Given the description of an element on the screen output the (x, y) to click on. 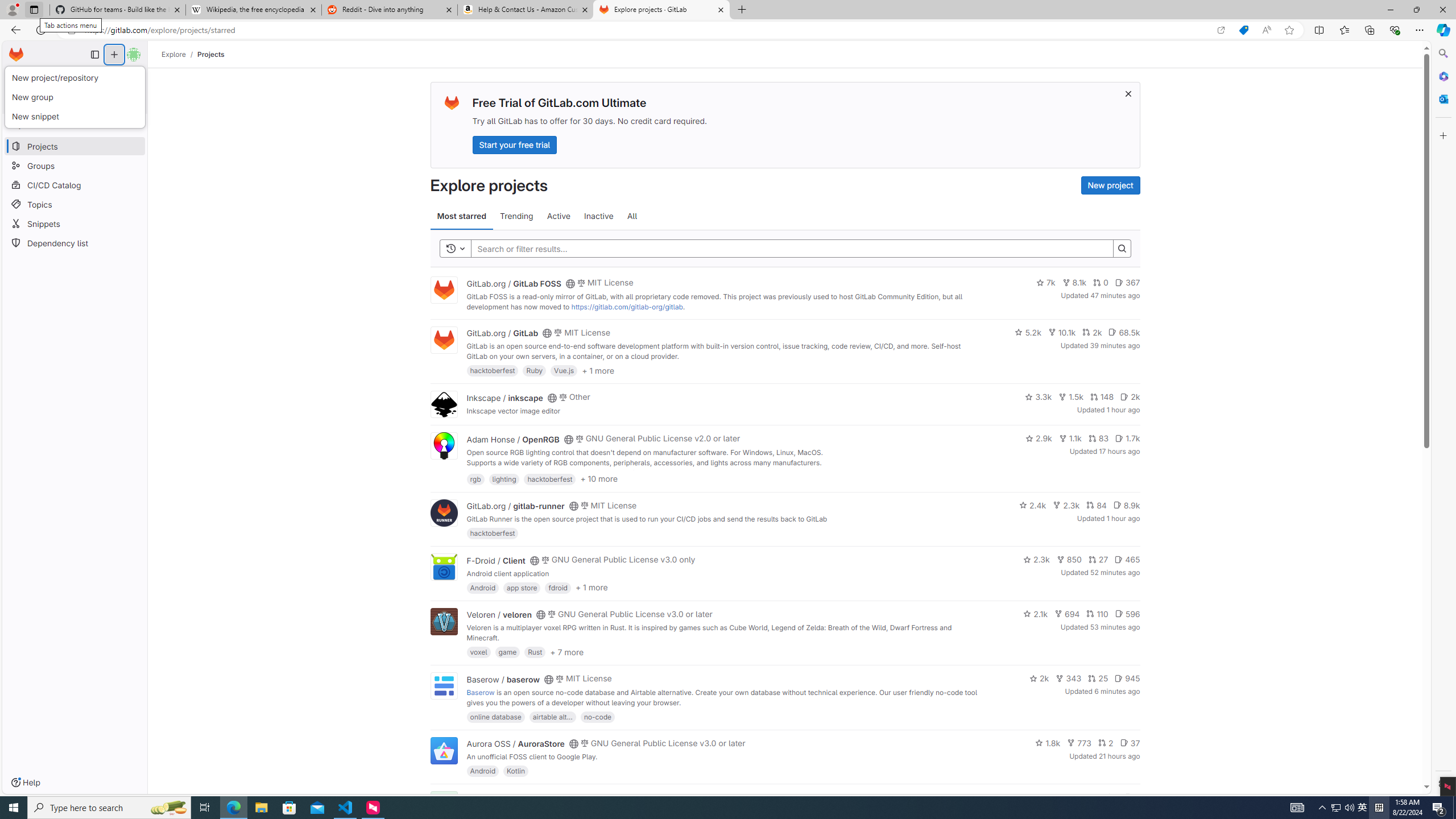
Class: s16 gl-icon gl-button-icon  (1127, 93)
Snippets (74, 223)
Merge requests 0 (74, 76)
10.1k (1061, 331)
Groups (74, 165)
2.1k (1035, 613)
airtable alt... (552, 715)
850 (1068, 559)
2.3k (1035, 559)
game (507, 651)
fdroid (558, 587)
+ 7 more (566, 651)
343 (1068, 678)
